Given the description of an element on the screen output the (x, y) to click on. 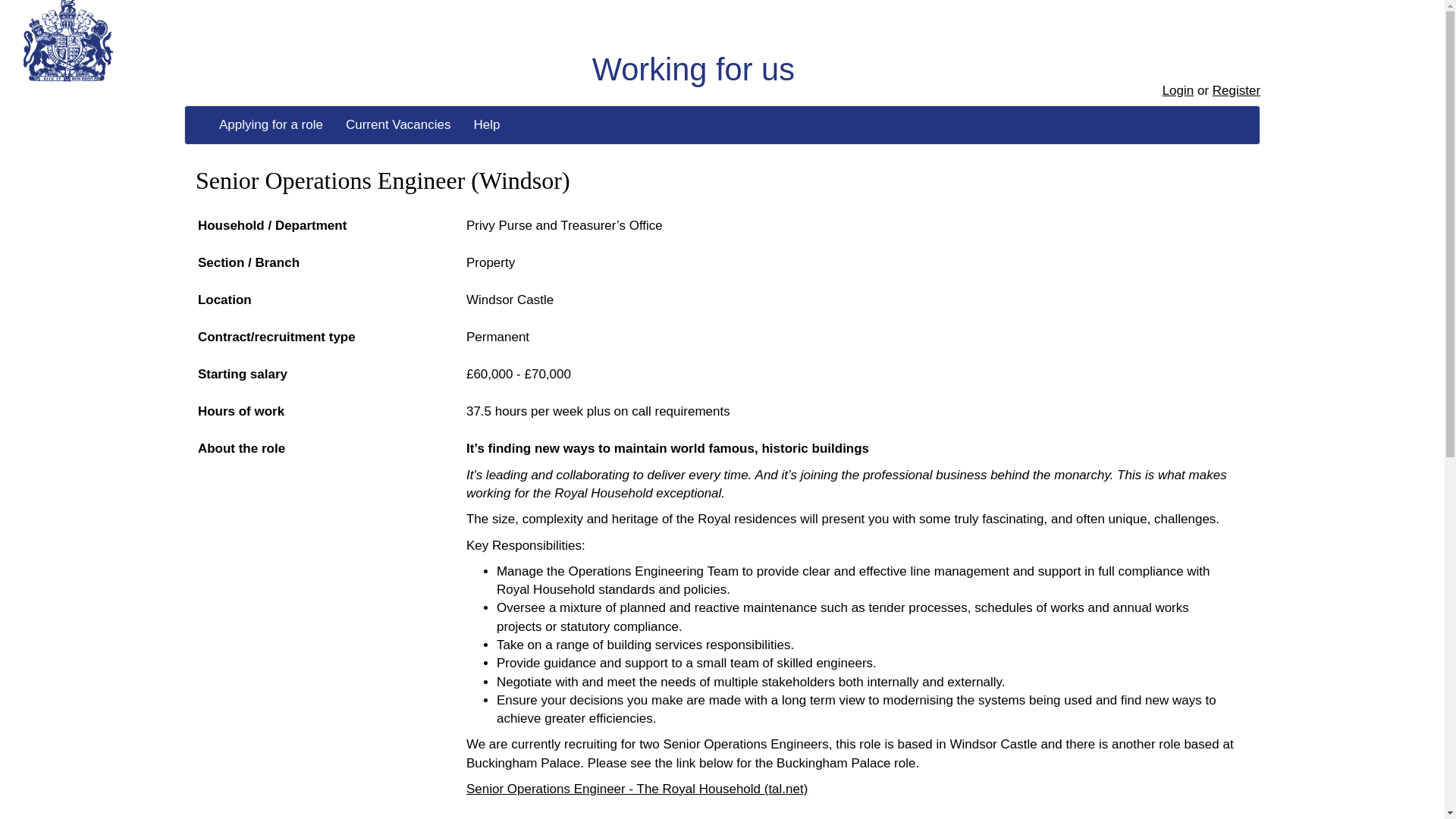
Login (1177, 90)
Current Vacancies (398, 125)
Register (1236, 90)
Applying for a role (271, 125)
Help (487, 125)
